Given the description of an element on the screen output the (x, y) to click on. 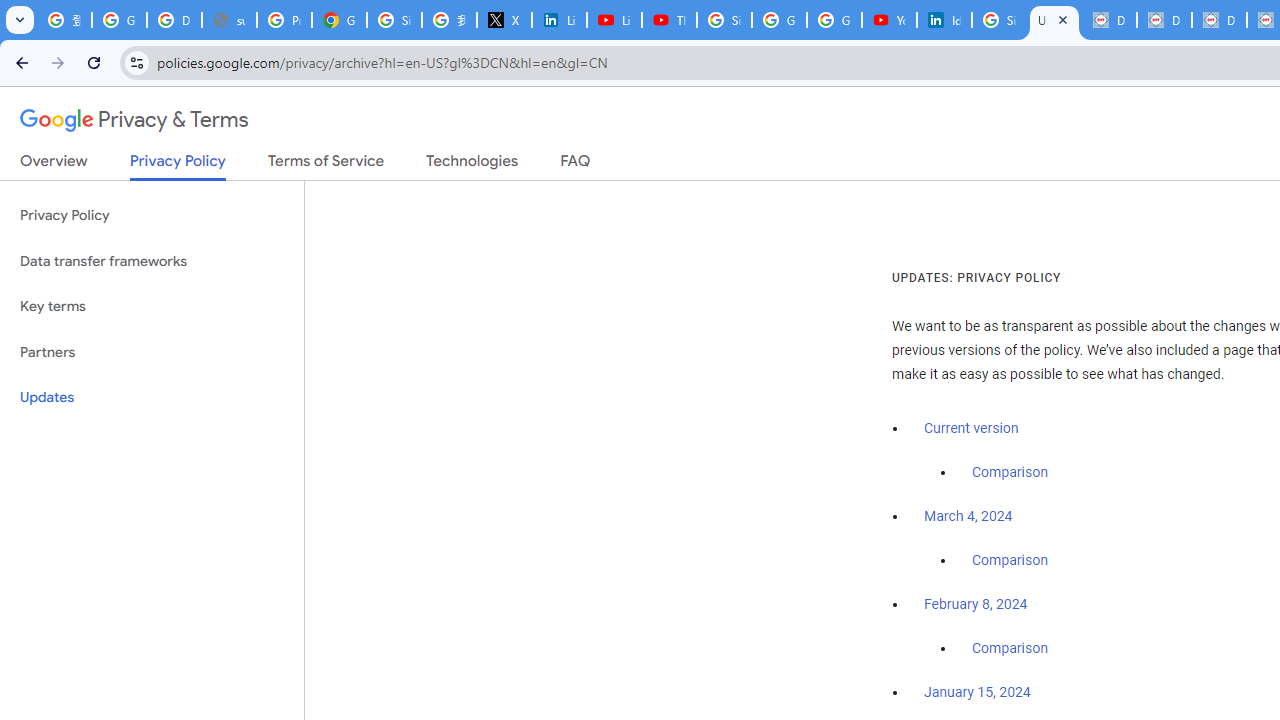
Key terms (152, 306)
February 8, 2024 (975, 605)
Current version (971, 428)
Sign in - Google Accounts (724, 20)
LinkedIn - YouTube (614, 20)
Privacy Help Center - Policies Help (284, 20)
